Given the description of an element on the screen output the (x, y) to click on. 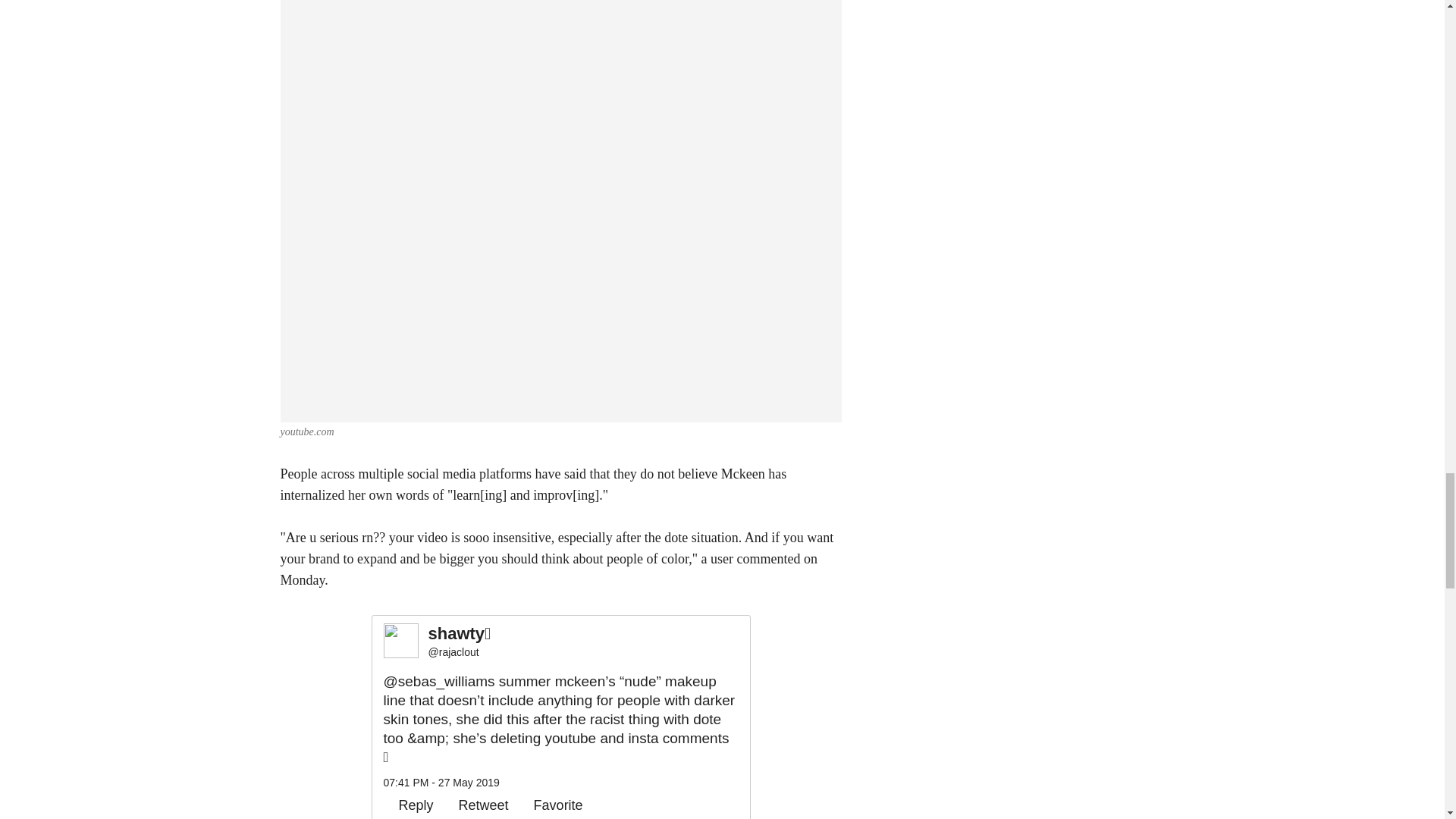
Retweet (476, 805)
youtube.com (307, 431)
07:41 PM - 27 May 2019 (441, 782)
Favorite (550, 805)
Reply (408, 805)
